Given the description of an element on the screen output the (x, y) to click on. 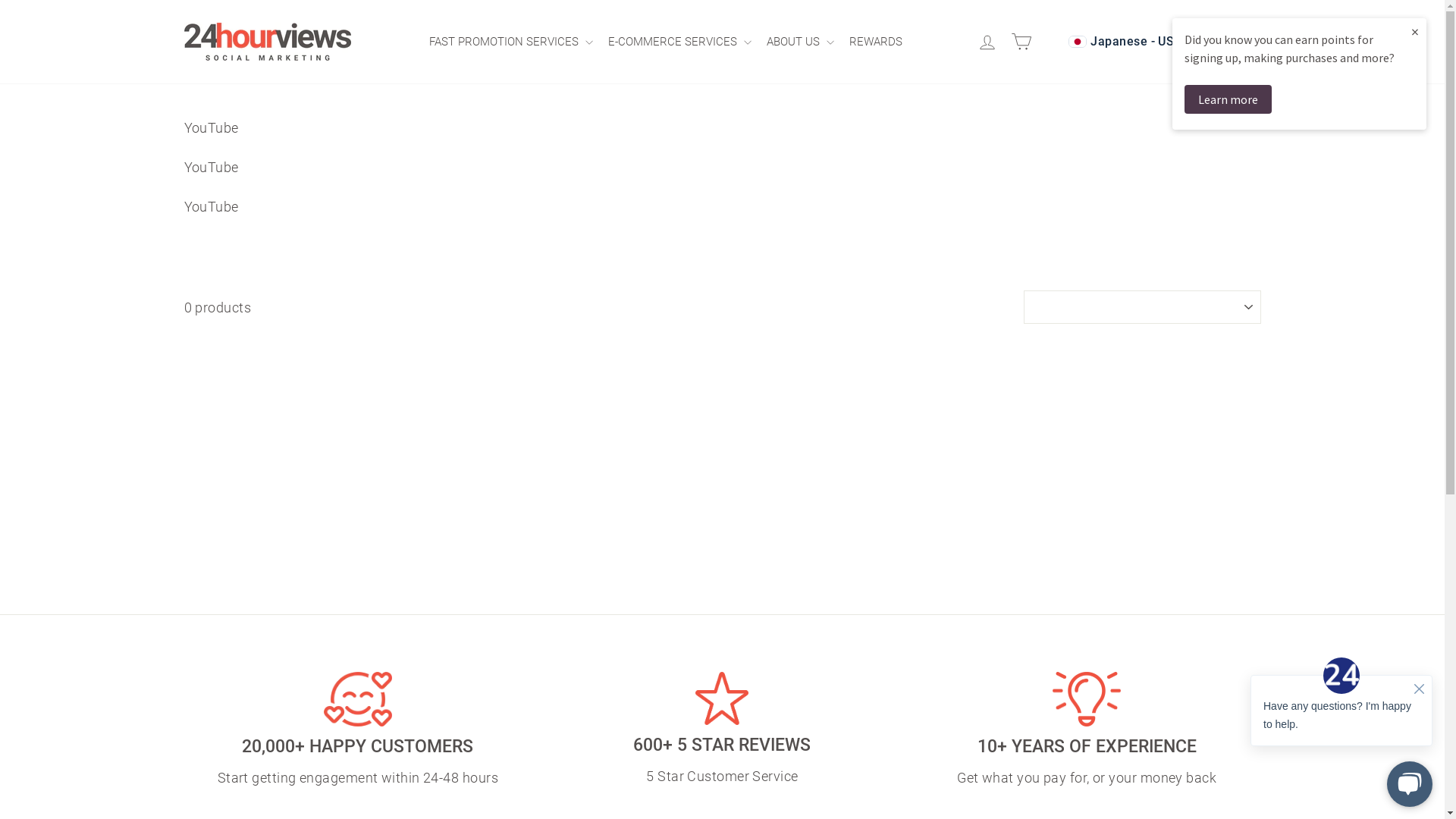
CART Element type: text (1024, 41)
Japanese
 - 
US dollar ($) Element type: text (1156, 41)
Learn more Element type: text (1227, 98)
REWARDS Element type: text (879, 41)
ACCOUNT
LOG IN Element type: text (989, 41)
